Given the description of an element on the screen output the (x, y) to click on. 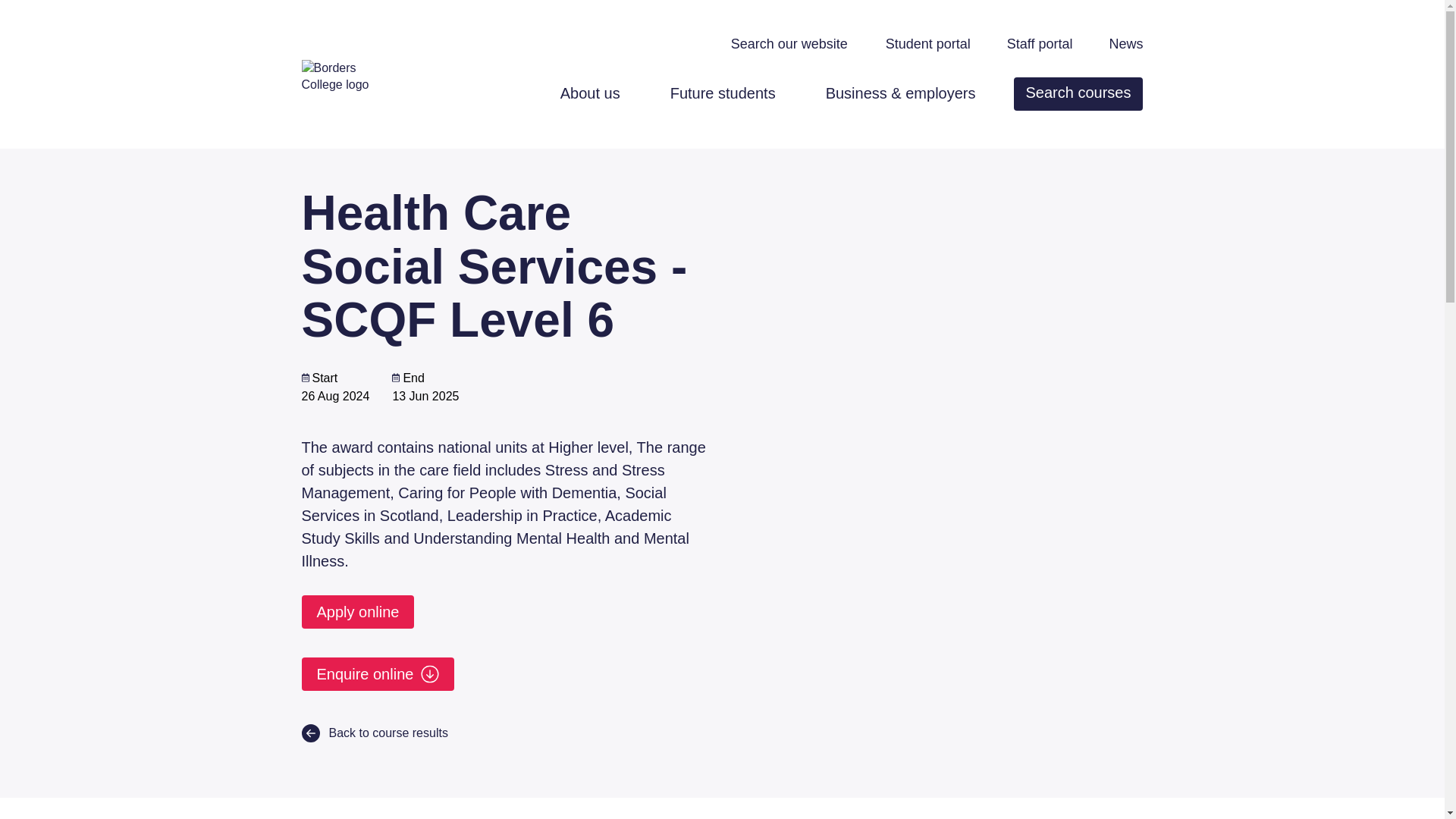
Student portal (928, 45)
Home (347, 70)
News (1125, 45)
Apply online (357, 611)
Back to course results (374, 732)
Enter the terms you wish to search for. (796, 44)
Search courses (1077, 93)
Enquire online (377, 674)
Staff portal (1040, 45)
